Given the description of an element on the screen output the (x, y) to click on. 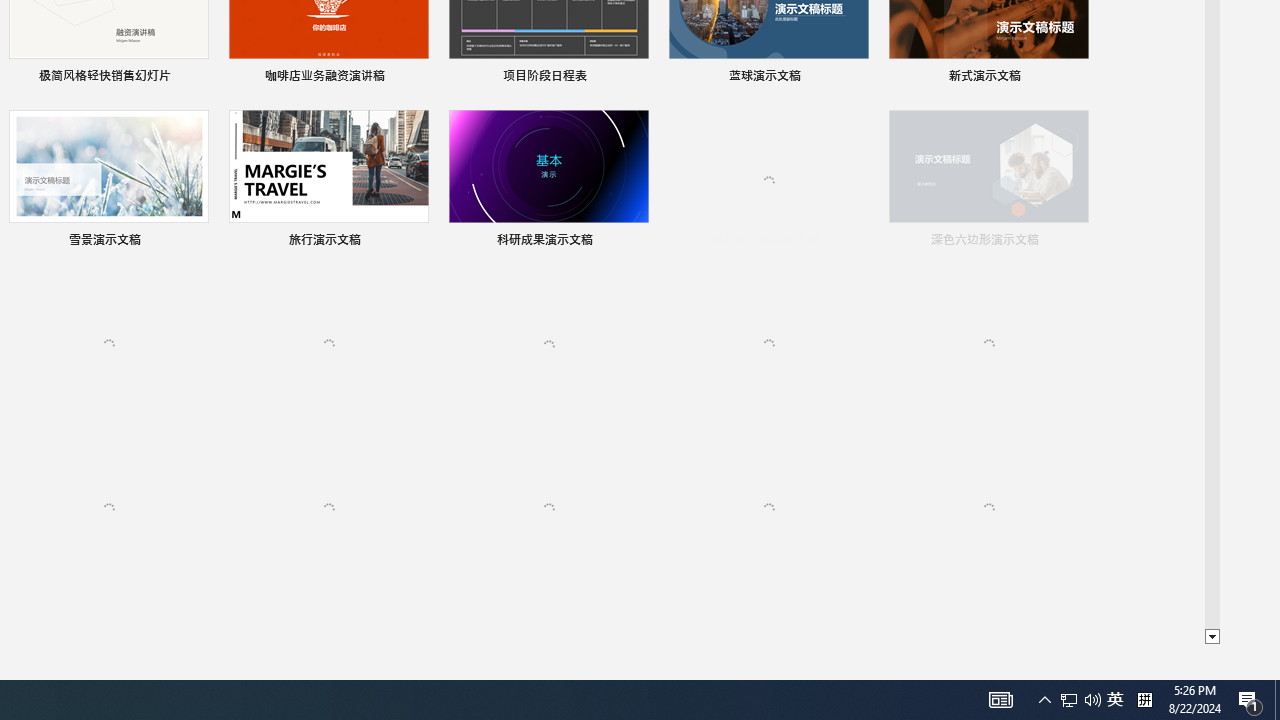
Class: NetUIAnimatedImage (988, 508)
